Given the description of an element on the screen output the (x, y) to click on. 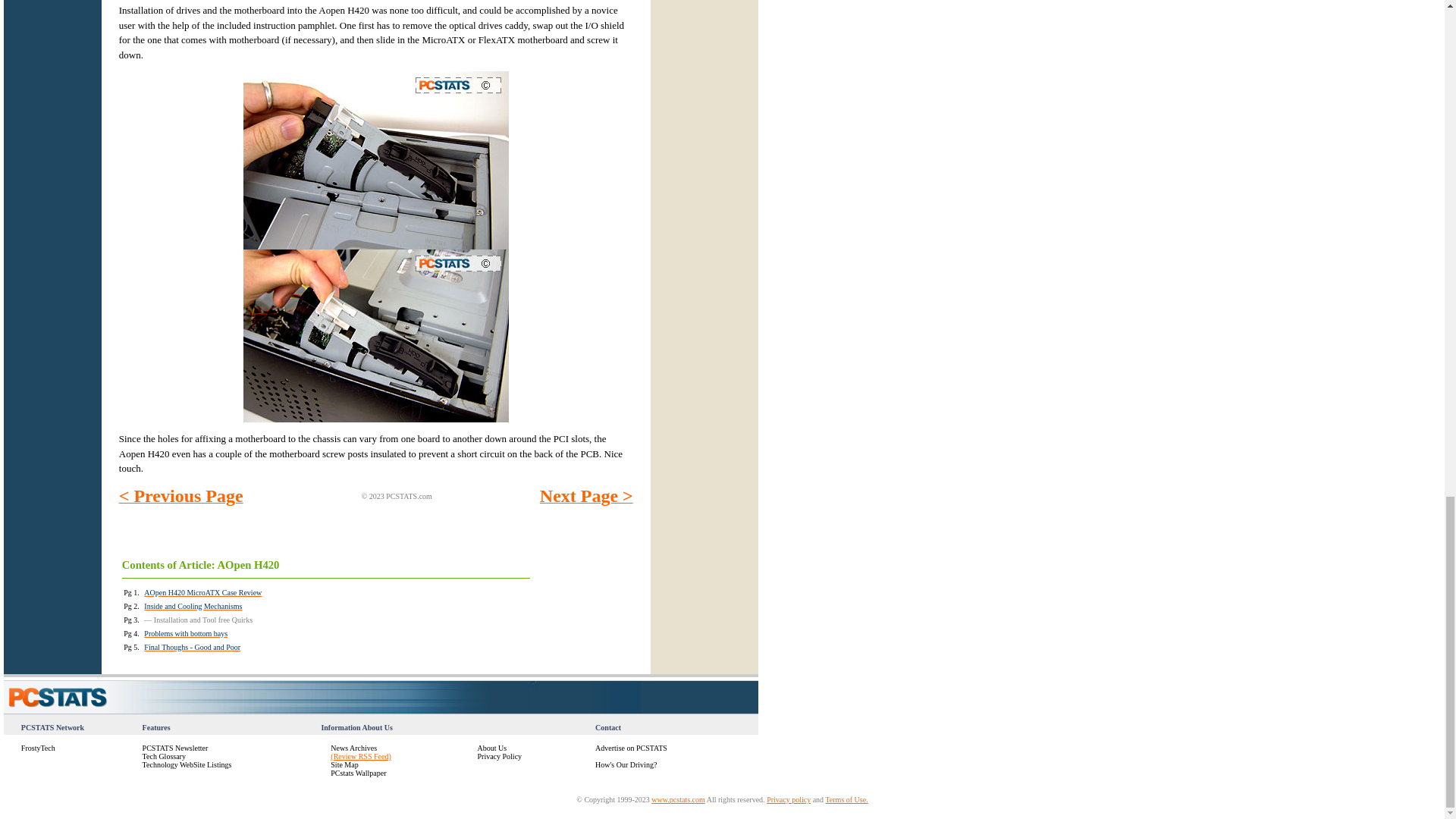
AOpen H420 MicroATX Case Review - PCSTATS (185, 631)
Problems with bottom bays (185, 631)
...Previous Page (181, 497)
Final Thoughs - Good and Poor (192, 645)
AOpen H420 MicroATX Case Review - PCSTATS (192, 604)
AOpen H420 MicroATX Case Review - PCSTATS (203, 590)
AOpen H420 MicroATX Case Review - PCSTATS (192, 645)
AOpen H420 MicroATX Case Review (203, 590)
Inside and Cooling Mechanisms (192, 604)
Next Page... (586, 497)
